Given the description of an element on the screen output the (x, y) to click on. 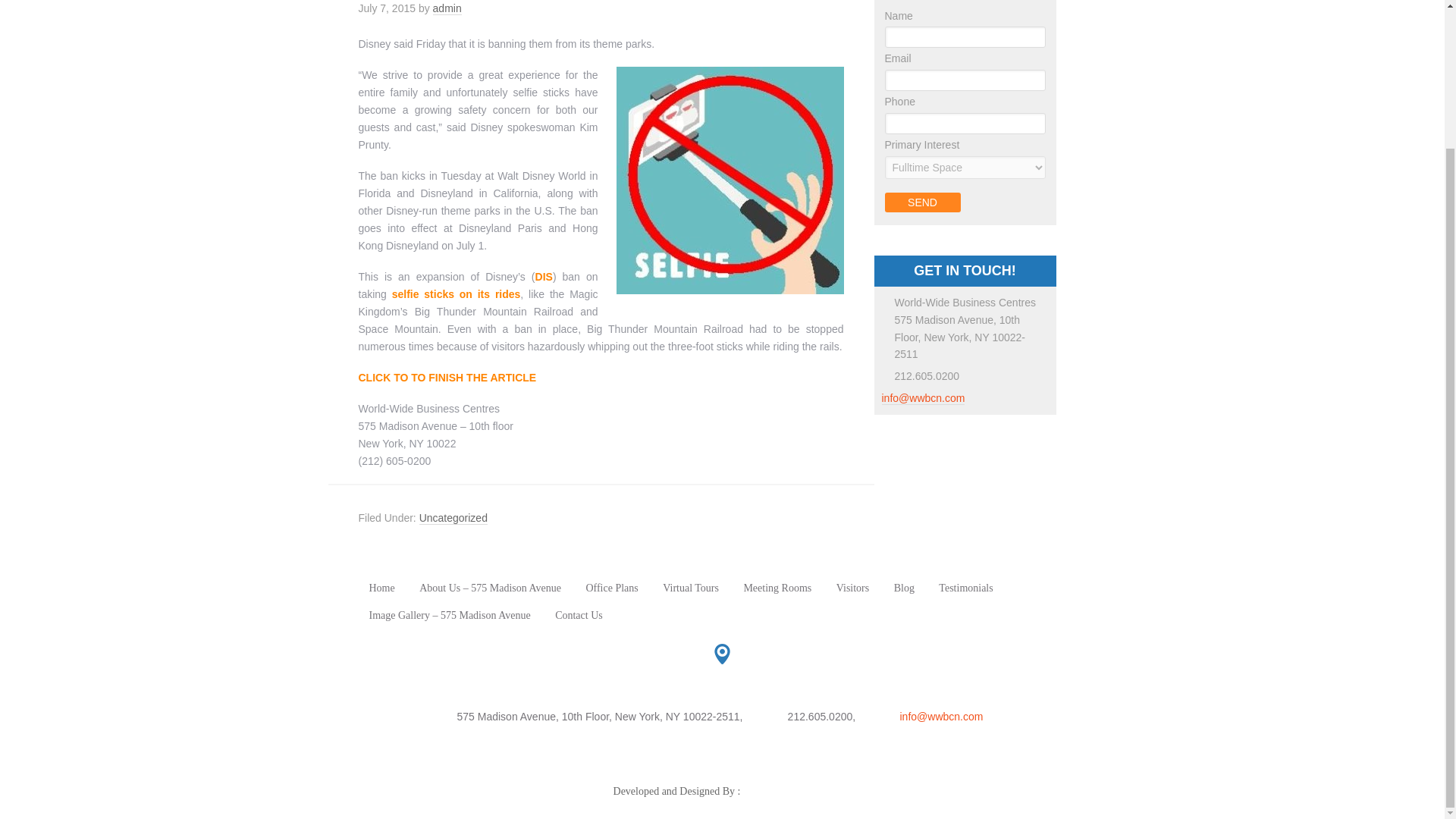
DIS (544, 276)
Send (921, 202)
Meeting Rooms (776, 586)
Virtual Tours (690, 586)
Office Plans (611, 586)
Uncategorized (453, 517)
Blog (903, 586)
admin (446, 8)
Home (381, 586)
Visitors (852, 586)
Send (921, 202)
Contact Us (578, 614)
selfie sticks on its rides (456, 294)
Testimonials (965, 586)
CLICK TO TO FINISH THE ARTICLE (446, 377)
